Given the description of an element on the screen output the (x, y) to click on. 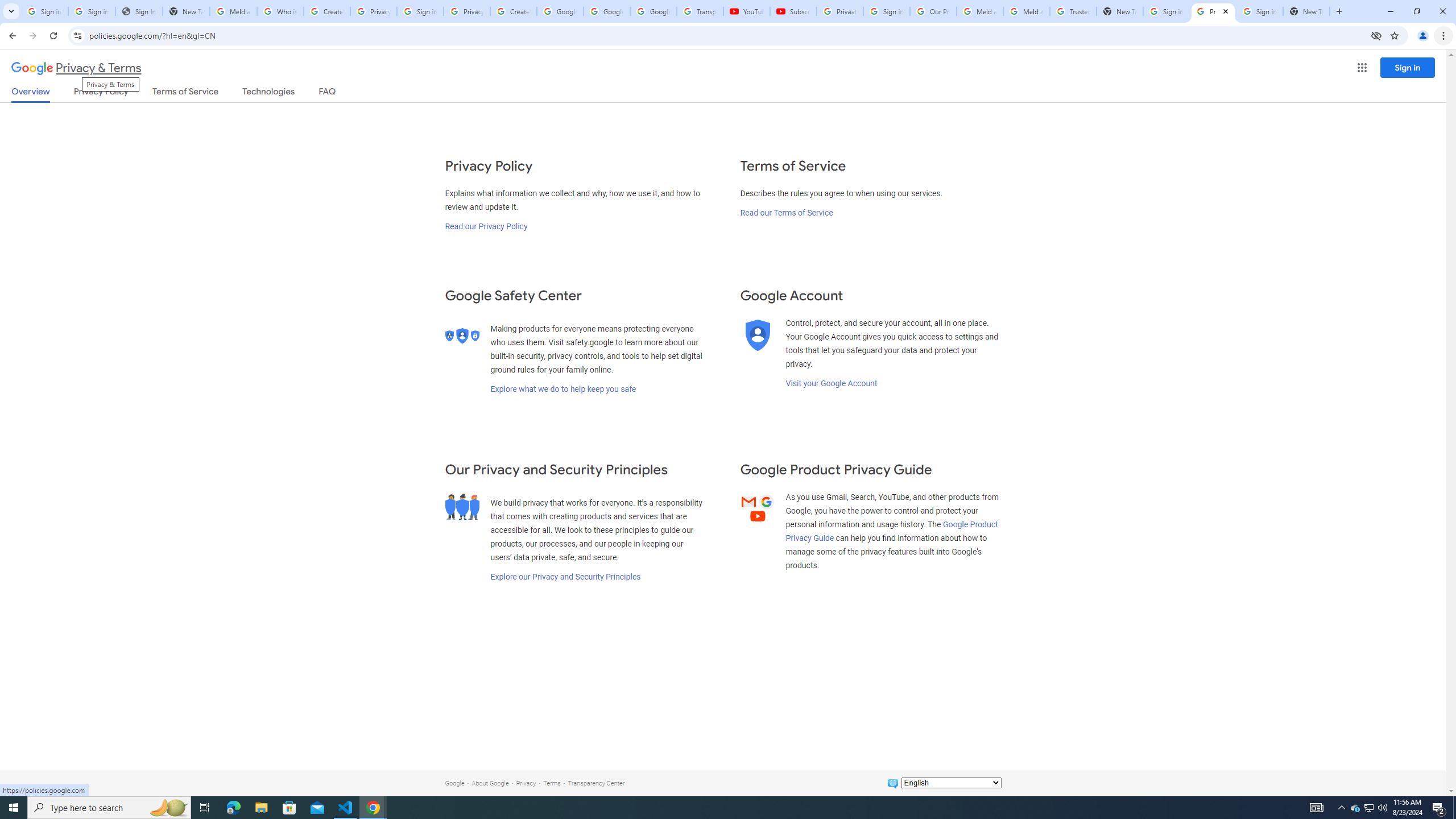
System (6, 6)
Read our Privacy Policy (485, 226)
Terms (551, 783)
Explore what we do to help keep you safe (563, 388)
FAQ (327, 93)
Create your Google Account (326, 11)
Bookmark this tab (1393, 35)
Visit your Google Account (830, 383)
New Tab (1338, 11)
Privacy & Terms (76, 68)
Explore our Privacy and Security Principles (565, 576)
System (6, 6)
